Given the description of an element on the screen output the (x, y) to click on. 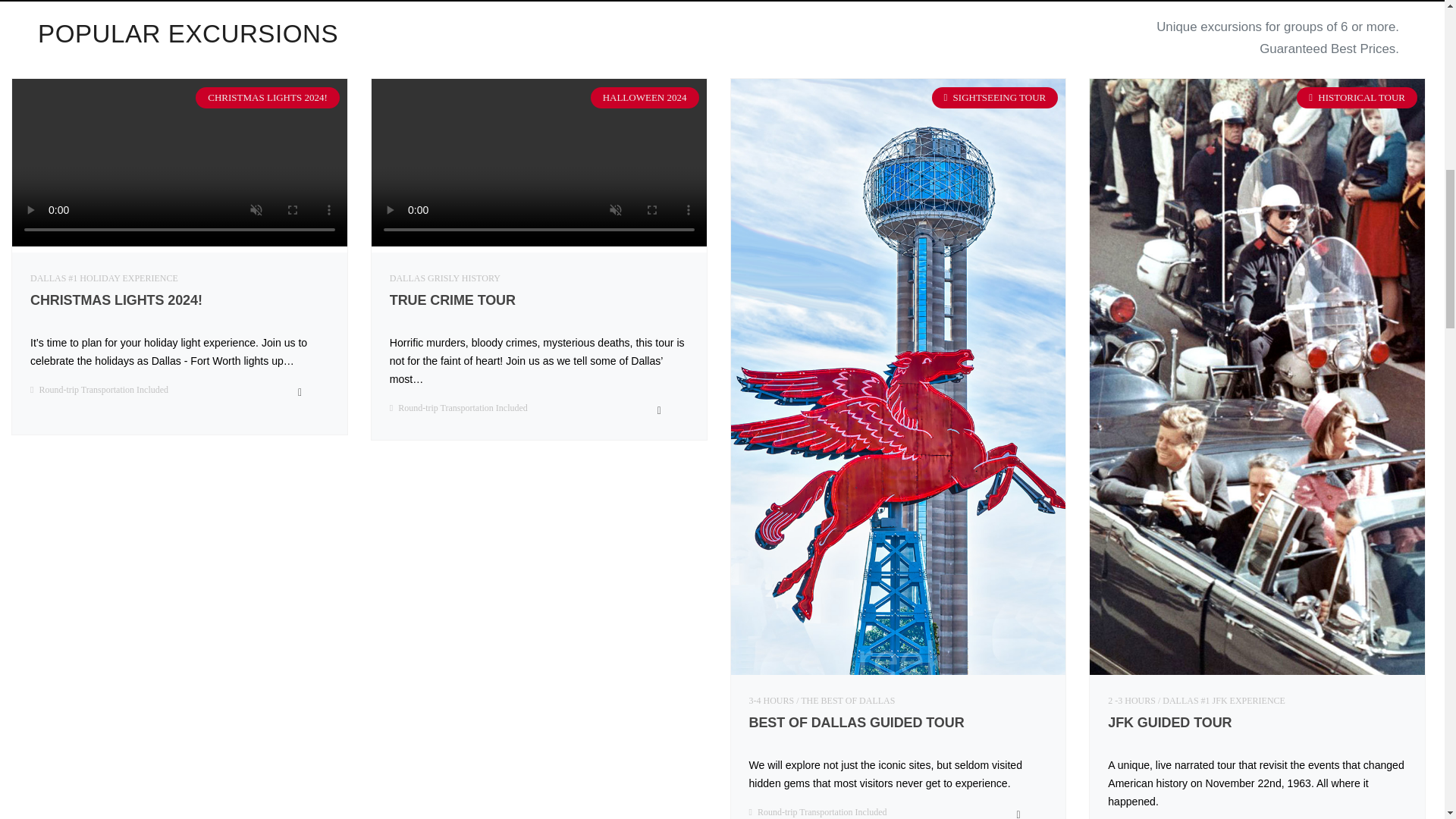
Christmas Lights Tour (179, 306)
Christmas Lights Tour (103, 277)
Dallas True Crime Tour (539, 306)
The Best Of Dallas - Dallas Sightseeing Tour (898, 729)
Christmas Lights Tour (179, 242)
Dallas True Crime Tour (538, 242)
The Best Of Dallas - Dallas Sightseeing Tour (897, 375)
Dallas True Crime Tour (445, 277)
The Best Of Dallas - Dallas Sightseeing Tour (822, 700)
